Given the description of an element on the screen output the (x, y) to click on. 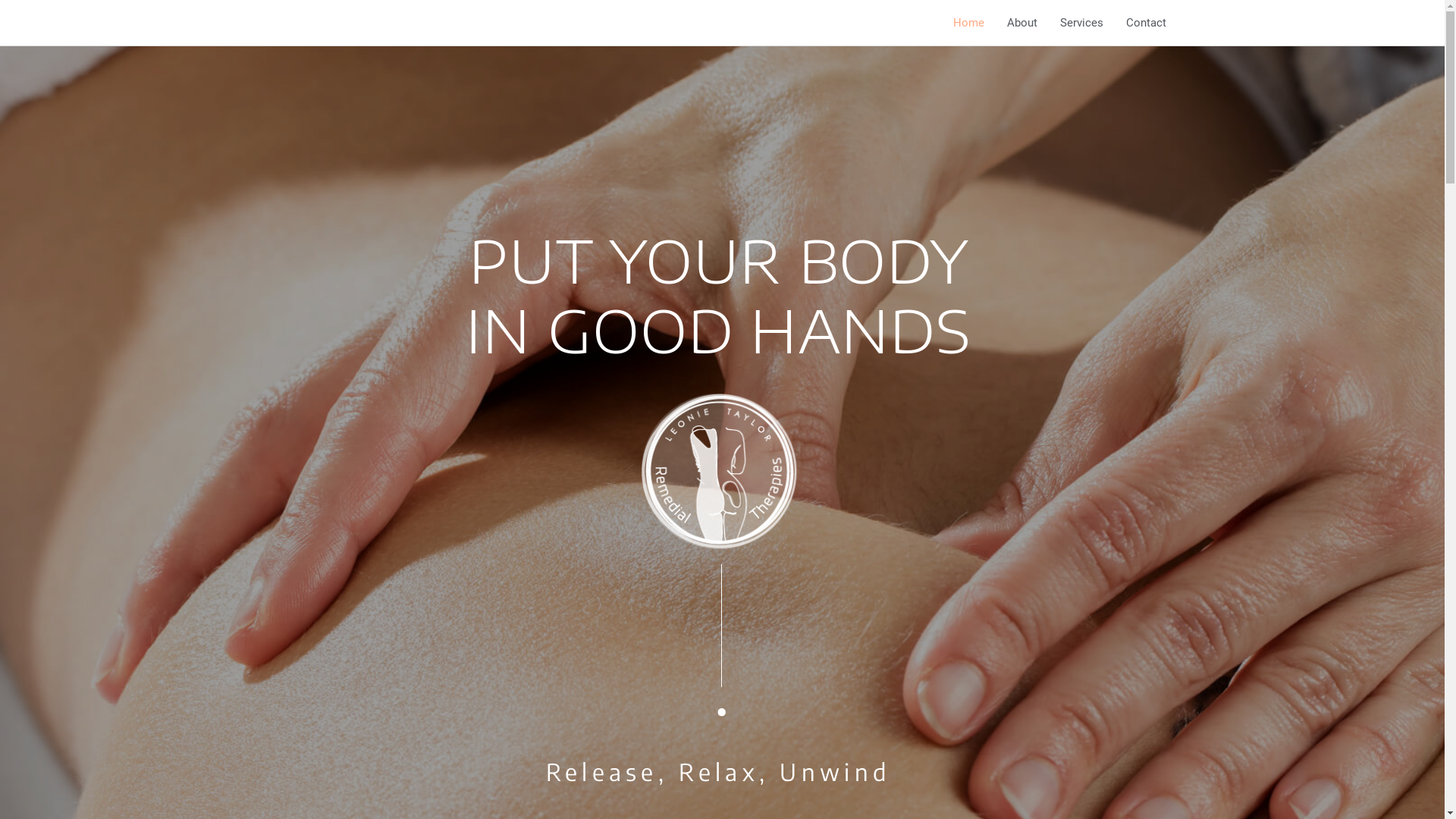
Home Element type: text (968, 22)
Contact Element type: text (1145, 22)
Services Element type: text (1080, 22)
About Element type: text (1021, 22)
